Given the description of an element on the screen output the (x, y) to click on. 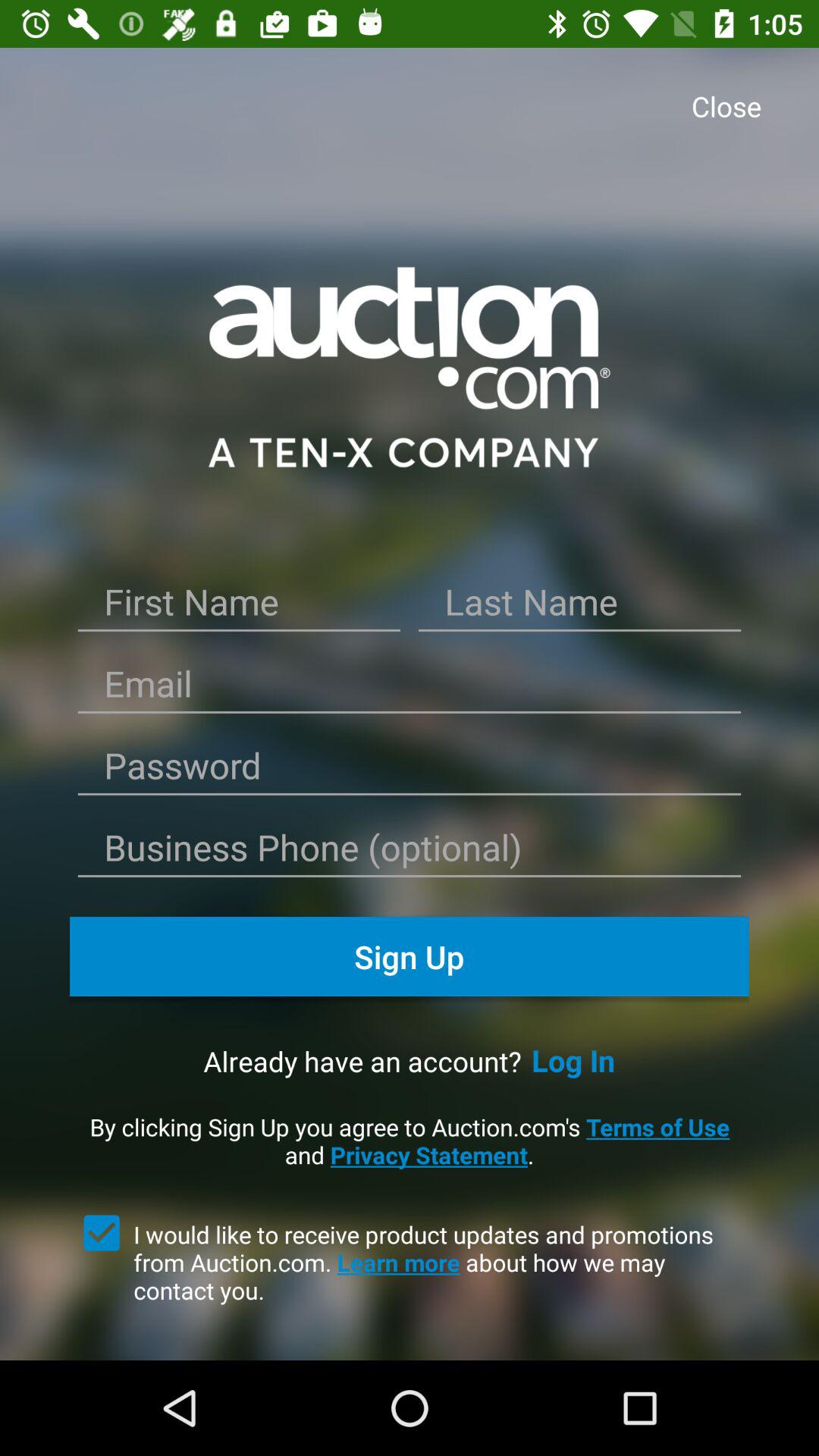
jump until i would like item (441, 1262)
